Given the description of an element on the screen output the (x, y) to click on. 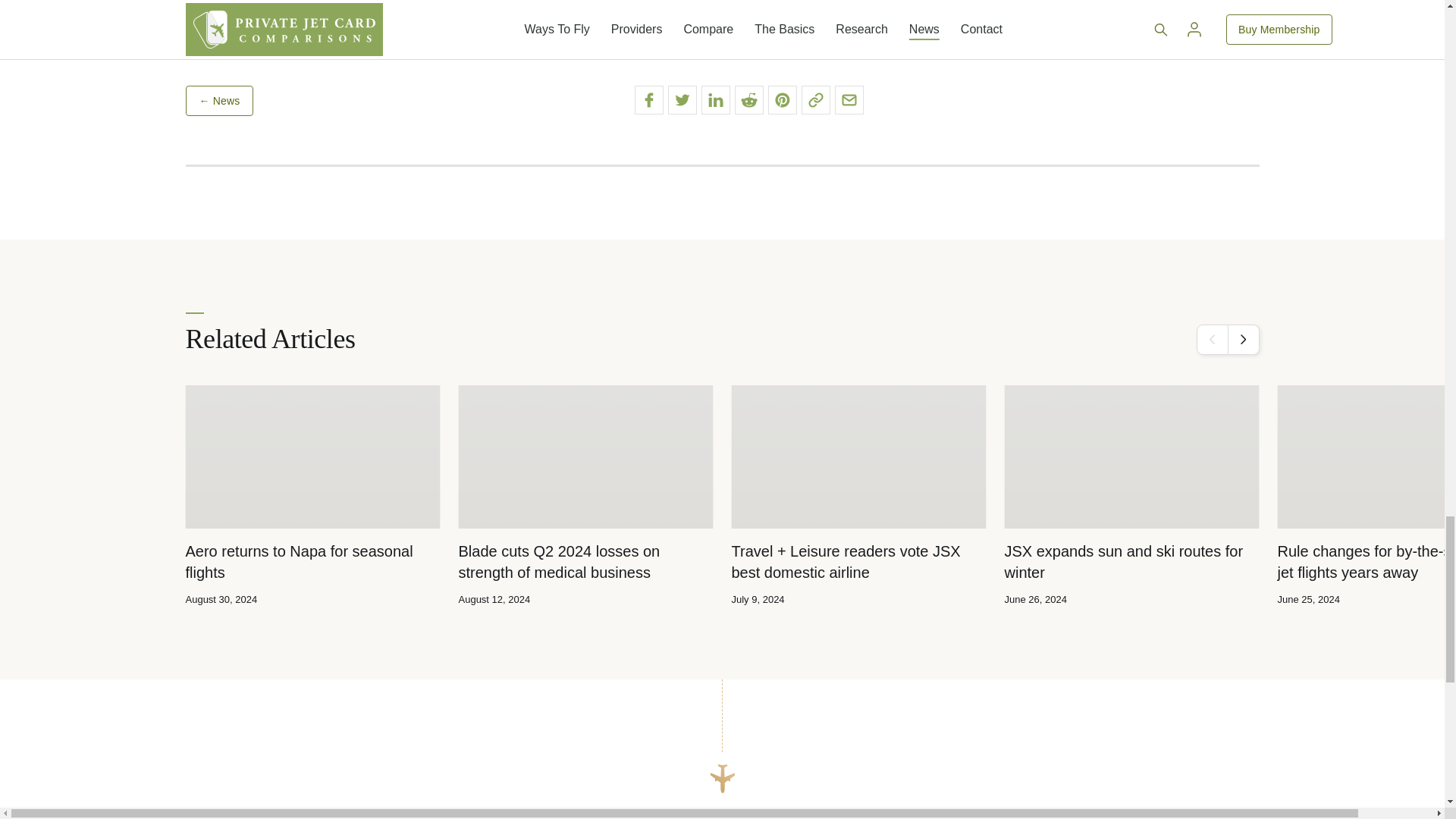
Share with Email (848, 99)
Share with Facebook (647, 99)
Share with Twitter (680, 99)
Share with Reddit (747, 99)
Share with LinkedIn (714, 99)
Share with Pinterest (781, 99)
Copy Link to Clipboard (814, 99)
